Given the description of an element on the screen output the (x, y) to click on. 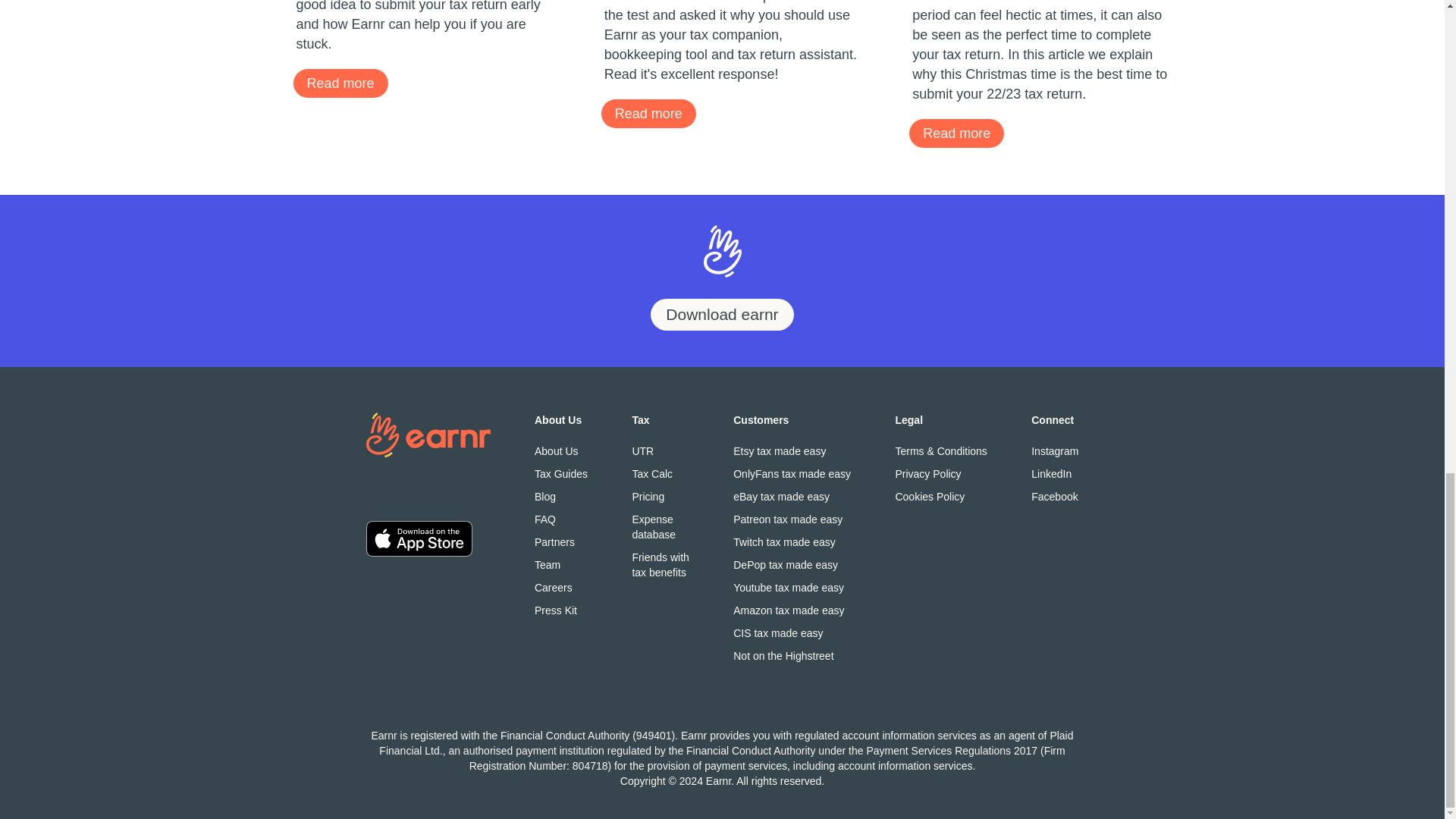
Blog (561, 496)
Partners (561, 541)
Pricing (659, 496)
Careers (561, 587)
Tax Calc (659, 473)
Download earnr (659, 526)
Read more (721, 314)
Read more (648, 113)
Team (956, 133)
About Us (561, 564)
Read more (561, 450)
Press Kit (339, 82)
Tax Guides (555, 610)
UTR (561, 473)
